Given the description of an element on the screen output the (x, y) to click on. 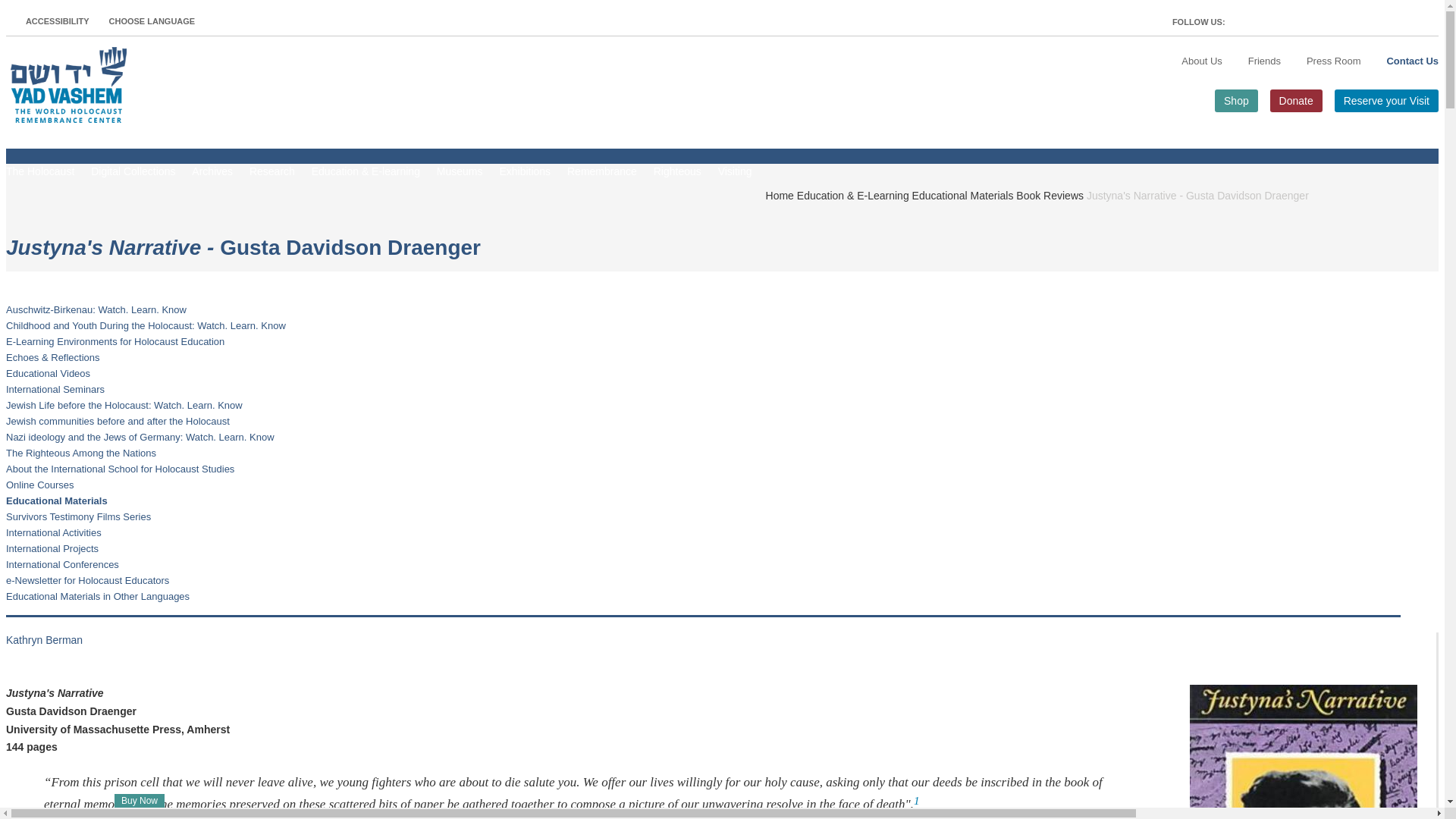
Donate (1295, 100)
Justyna's Narrative (1302, 751)
Friends (1264, 60)
Contact Us (1412, 60)
Press Room (1333, 60)
About Us (1200, 60)
Reserve your Visit (1386, 100)
Digital Collections (132, 178)
The Holocaust (39, 178)
Shop (1235, 100)
